Given the description of an element on the screen output the (x, y) to click on. 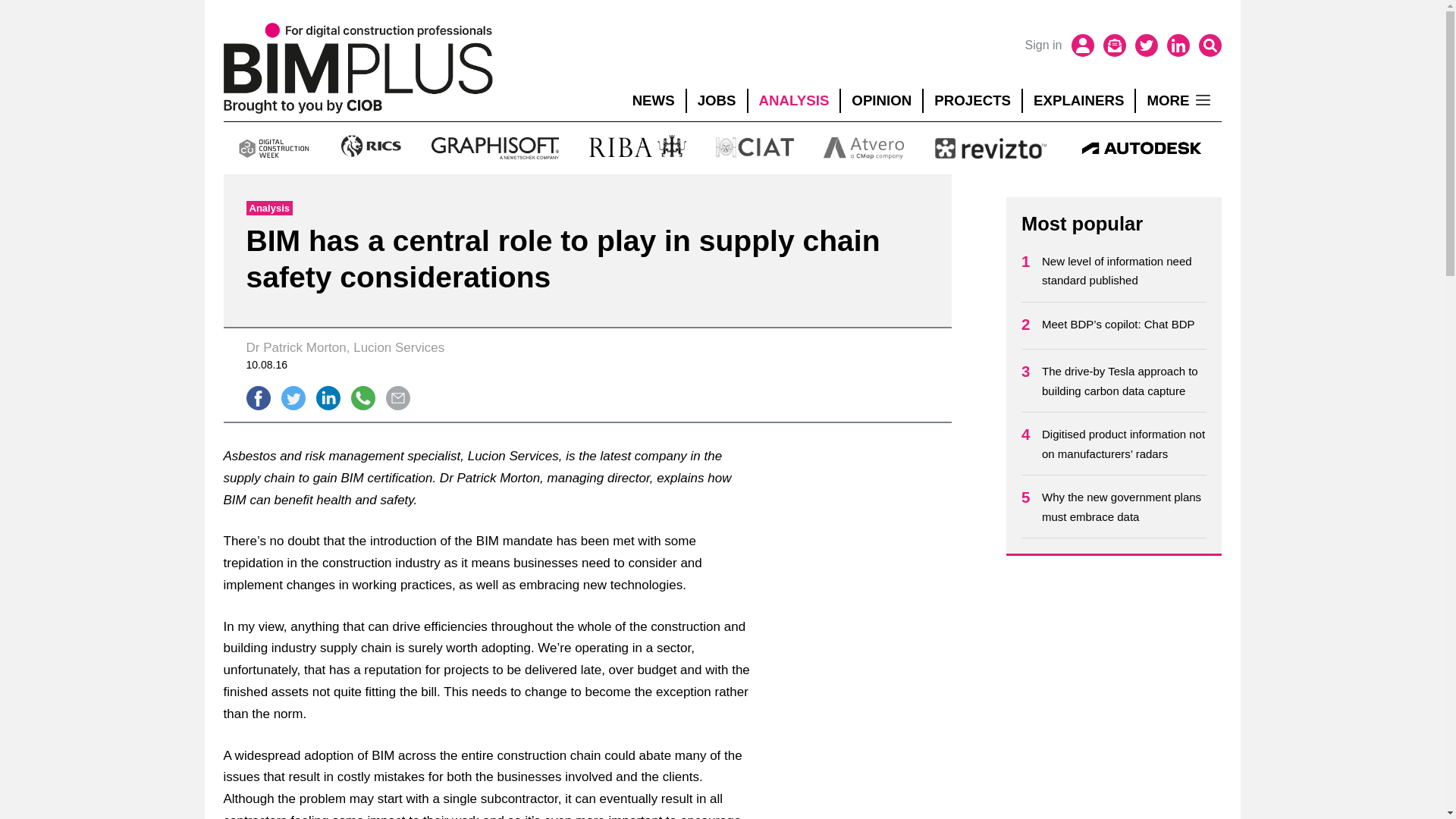
OPINION (881, 100)
Sign in (1043, 45)
Share on LinkedIn (327, 397)
ANALYSIS (794, 100)
MORE (1178, 100)
Tweet (292, 397)
JOBS (716, 100)
NEWS (653, 100)
Share on Facebook (257, 397)
EXPLAINERS (1078, 100)
Send email (397, 397)
PROJECTS (972, 100)
Share on WhatsApp (362, 397)
